Given the description of an element on the screen output the (x, y) to click on. 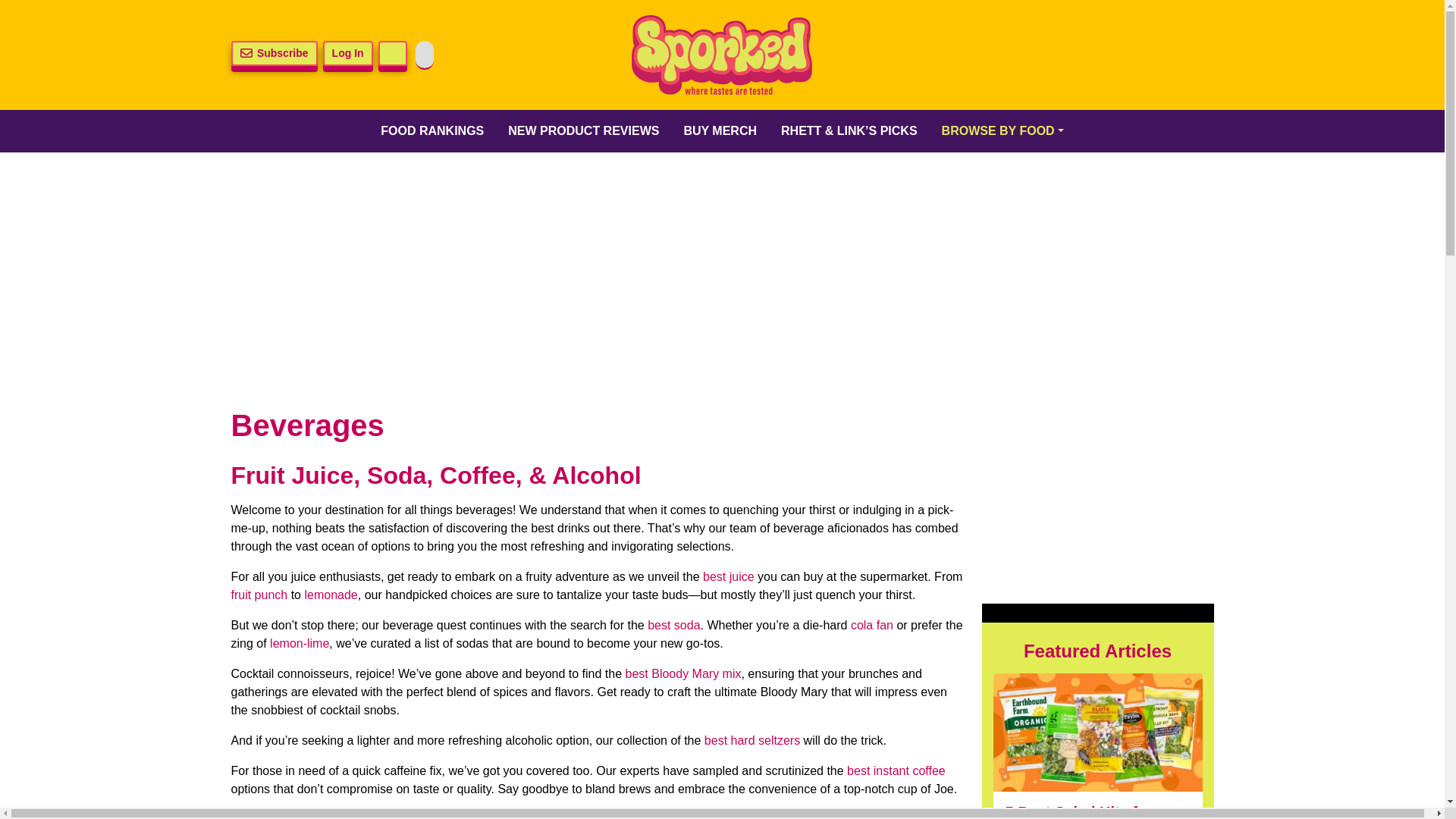
BROWSE BY FOOD (1002, 130)
BUY MERCH (719, 130)
Log In (347, 53)
NEW PRODUCT REVIEWS (583, 130)
Subscribe (273, 53)
Tiktok, opens in new tab (1114, 54)
YouTube, opens in new tab (1153, 54)
FOOD RANKINGS (432, 130)
Twitter, opens in new tab (996, 54)
Facebook, opens in new tab (1035, 54)
